Given the description of an element on the screen output the (x, y) to click on. 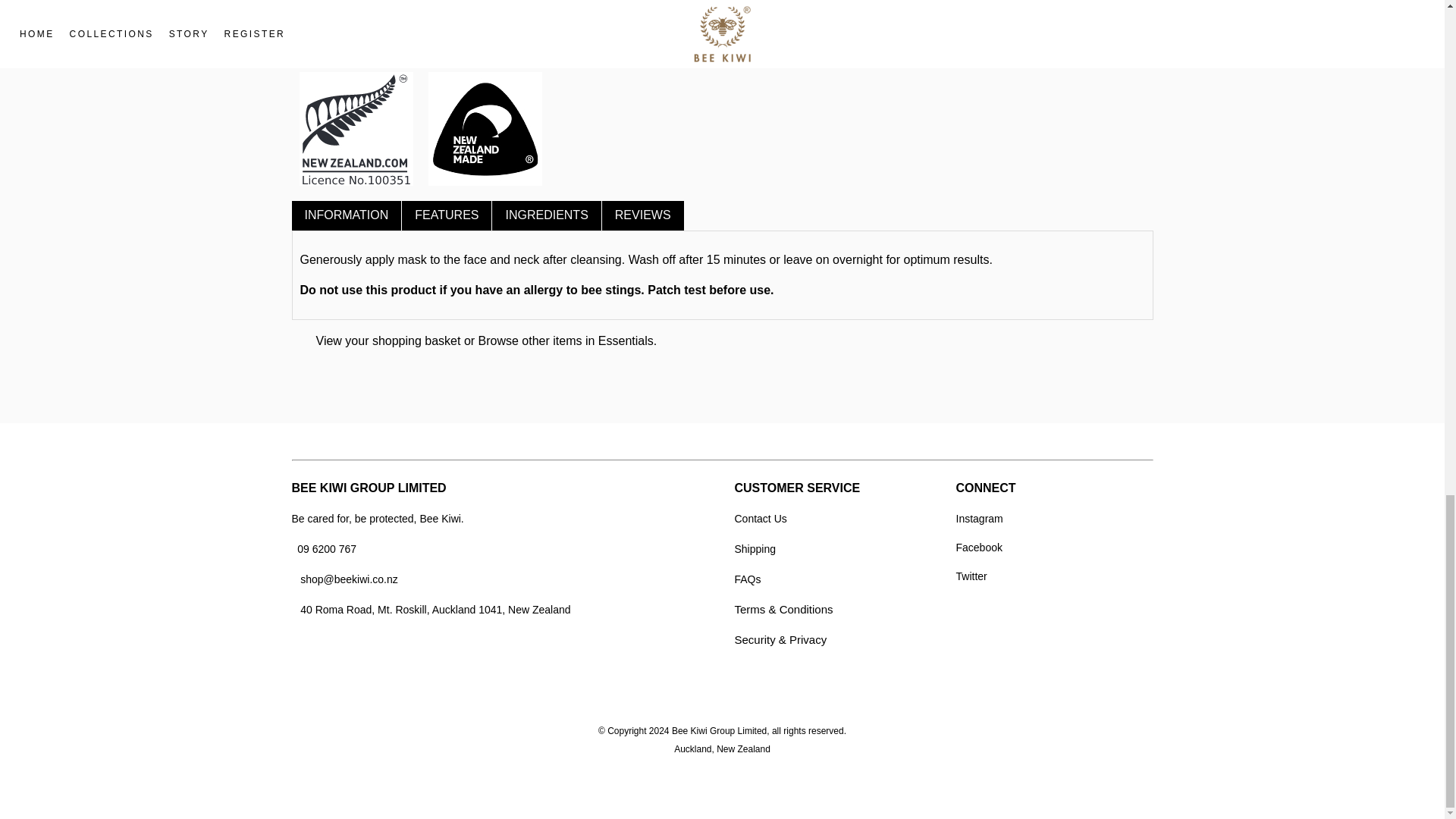
Contact Us (759, 518)
FAQs (746, 579)
FEATURES (446, 215)
INFORMATION (346, 215)
View your shopping basket (387, 340)
Browse other items in Essentials (566, 340)
Shipping (754, 548)
REVIEWS (643, 215)
INGREDIENTS (545, 215)
